Given the description of an element on the screen output the (x, y) to click on. 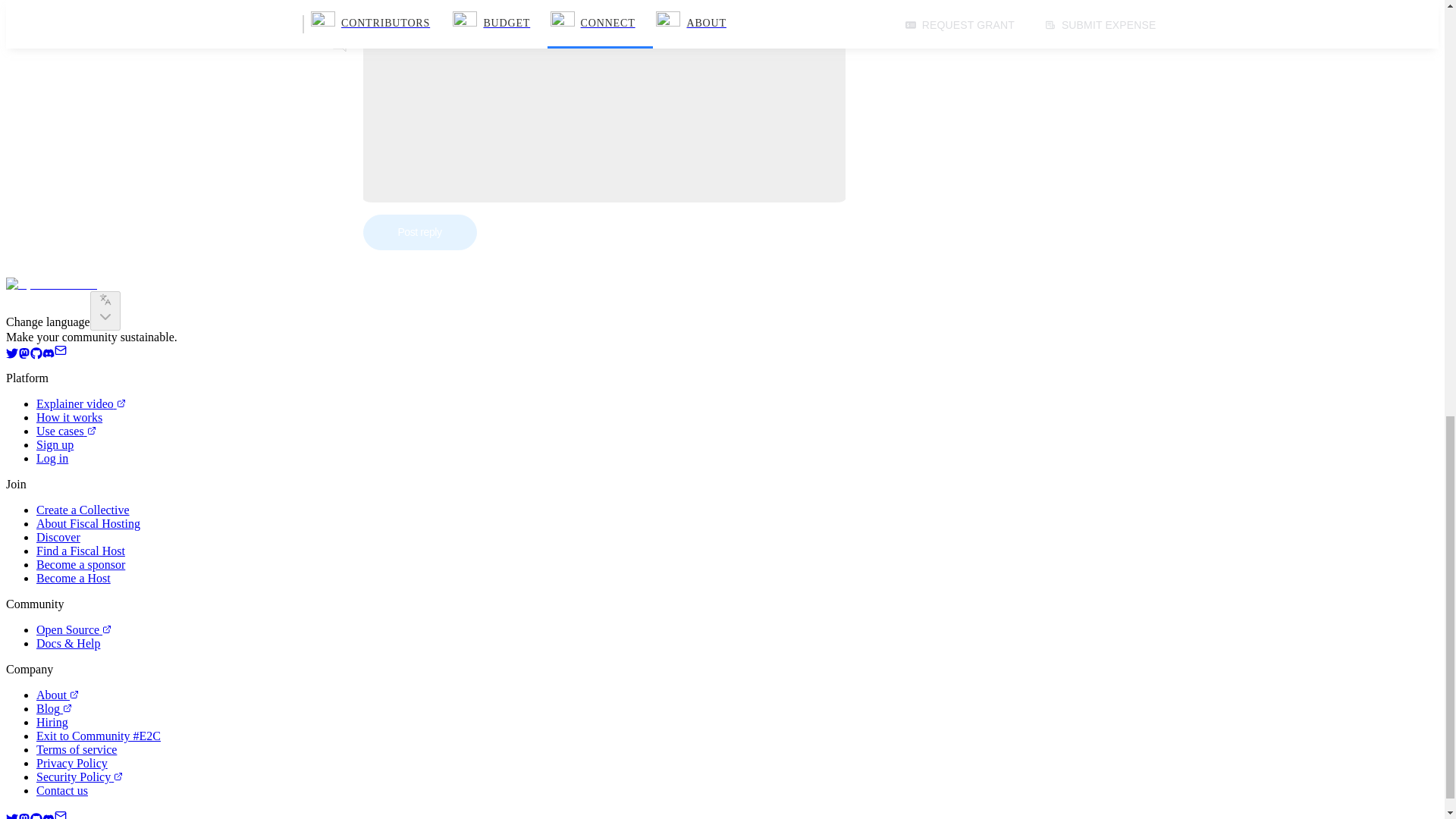
Privacy Policy (71, 762)
Log in (52, 458)
About Fiscal Hosting (87, 522)
Become a sponsor (80, 563)
Use cases (66, 431)
Contact us (61, 789)
Security Policy (79, 776)
How it works (68, 417)
Terms of service (76, 748)
Discover (58, 536)
About (57, 694)
Open Source (74, 629)
Blog (53, 707)
Create a Collective (82, 509)
Hiring (52, 721)
